Given the description of an element on the screen output the (x, y) to click on. 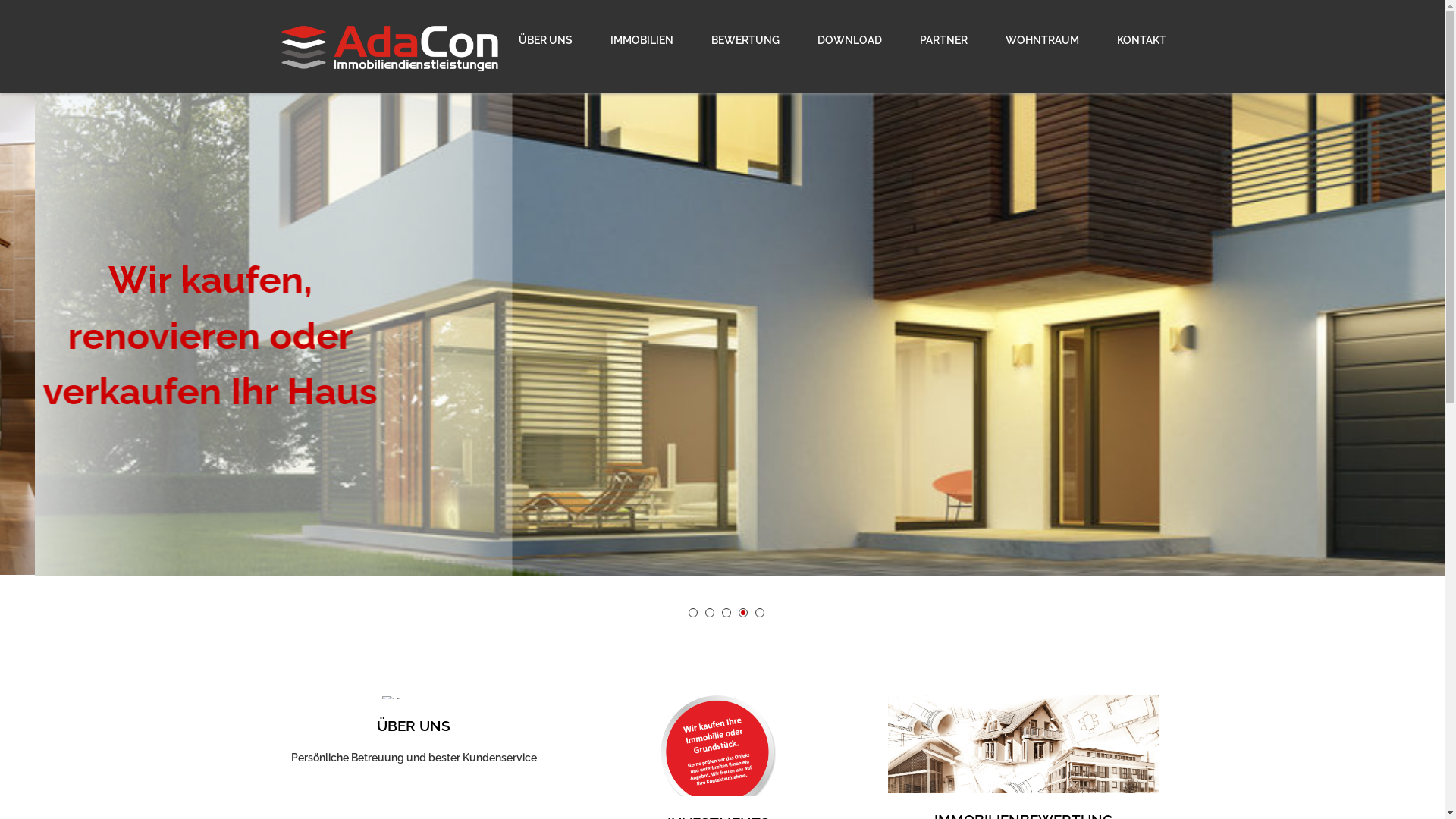
Investments Element type: hover (718, 753)
IMMOBILIEN Element type: text (641, 40)
BEWERTUNG Element type: text (744, 40)
KONTAKT Element type: text (1132, 40)
WOHNTRAUM Element type: text (1041, 40)
1 Element type: text (692, 612)
PARTNER Element type: text (943, 40)
3 Element type: text (726, 612)
DOWNLOAD Element type: text (848, 40)
2 Element type: text (709, 612)
4 Element type: text (742, 612)
Immobilienbewertung Element type: hover (1023, 751)
Skip to content Element type: text (41, 9)
5 Element type: text (759, 612)
